Given the description of an element on the screen output the (x, y) to click on. 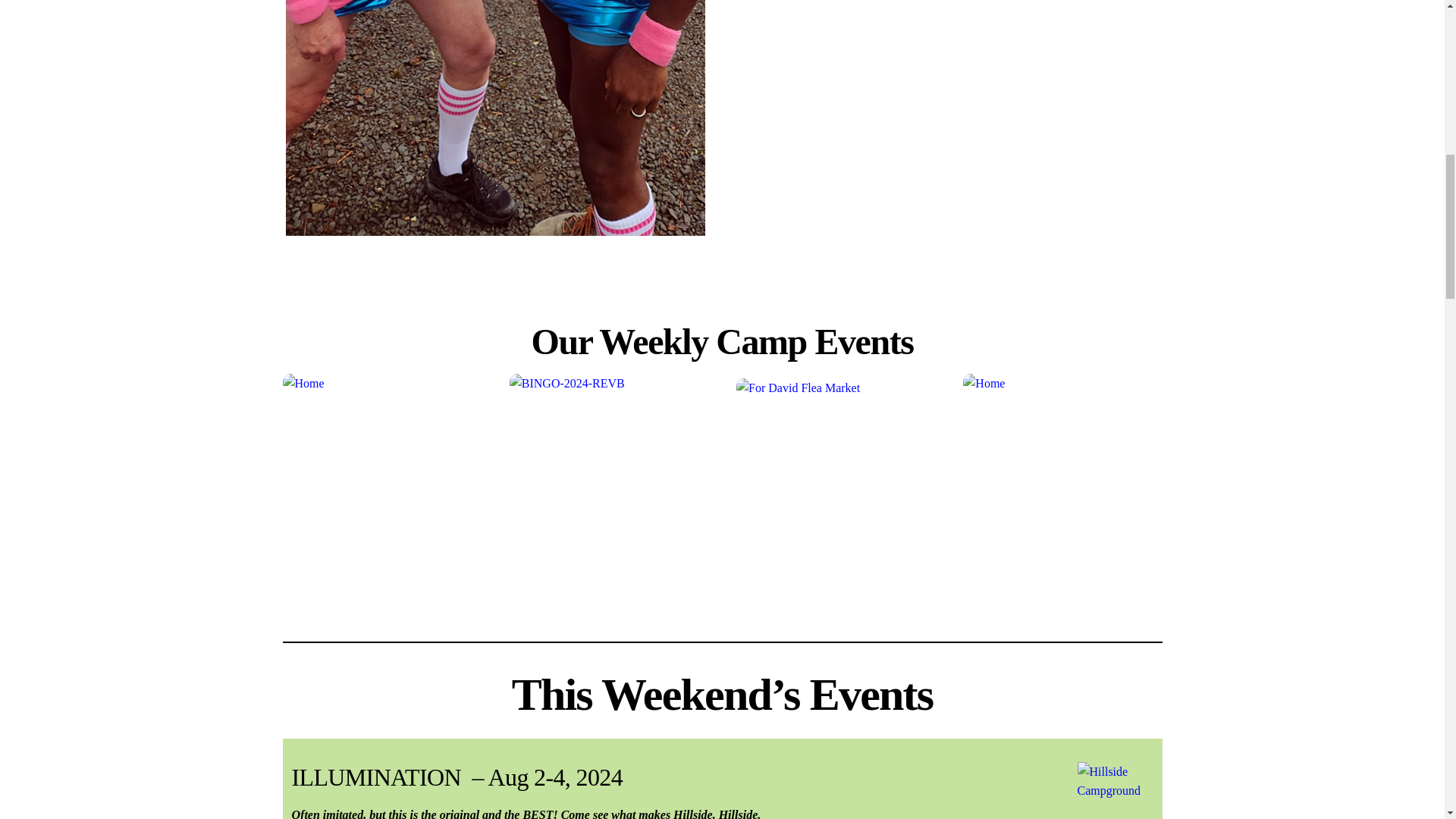
home-main-4 (494, 117)
